Given the description of an element on the screen output the (x, y) to click on. 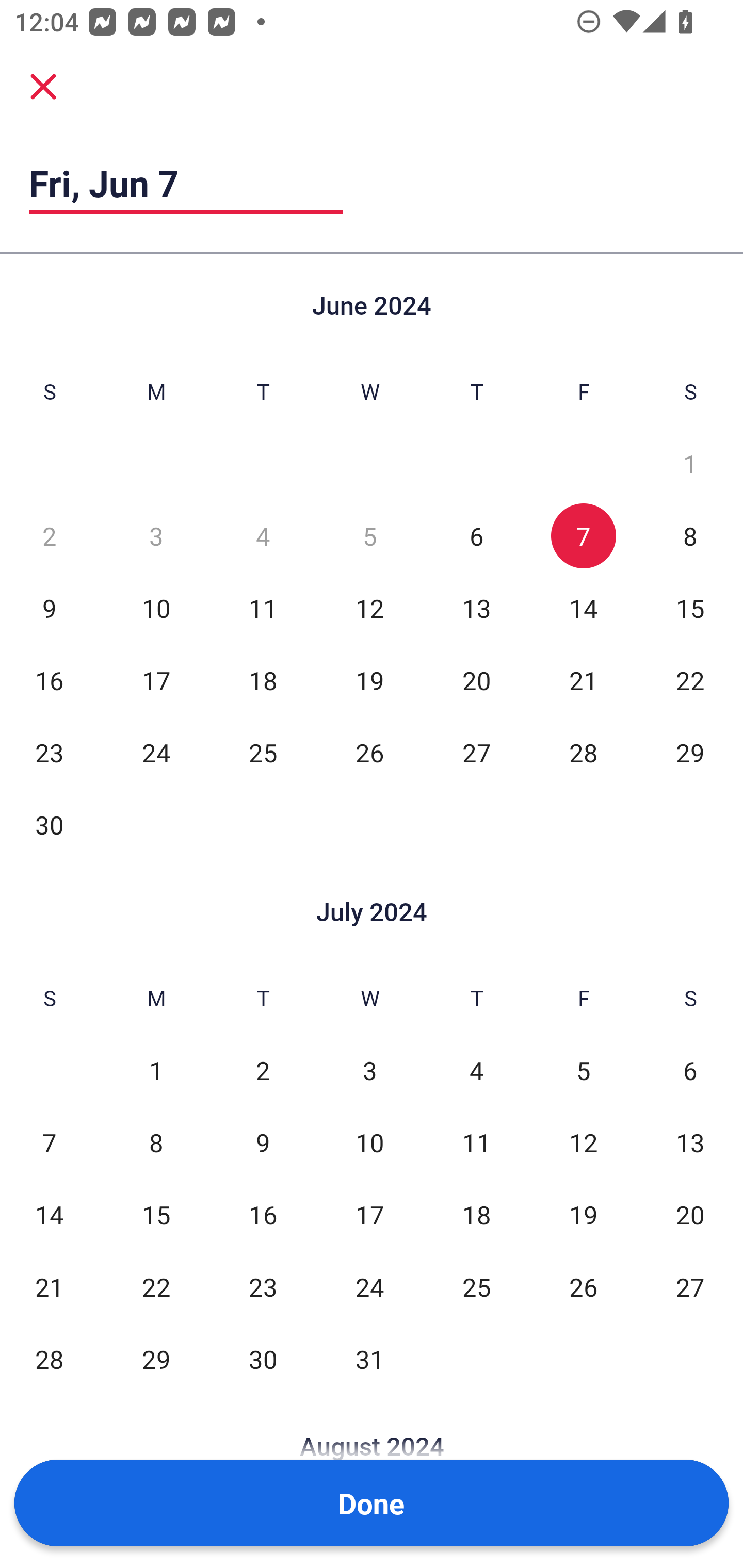
Cancel (43, 86)
Fri, Jun 7 (185, 182)
1 Sat, Jun 1, Not Selected (690, 464)
2 Sun, Jun 2, Not Selected (49, 536)
3 Mon, Jun 3, Not Selected (156, 536)
4 Tue, Jun 4, Not Selected (263, 536)
5 Wed, Jun 5, Not Selected (369, 536)
6 Thu, Jun 6, Not Selected (476, 536)
7 Fri, Jun 7, Selected (583, 536)
8 Sat, Jun 8, Not Selected (690, 536)
9 Sun, Jun 9, Not Selected (49, 608)
10 Mon, Jun 10, Not Selected (156, 608)
11 Tue, Jun 11, Not Selected (263, 608)
12 Wed, Jun 12, Not Selected (369, 608)
13 Thu, Jun 13, Not Selected (476, 608)
14 Fri, Jun 14, Not Selected (583, 608)
15 Sat, Jun 15, Not Selected (690, 608)
16 Sun, Jun 16, Not Selected (49, 680)
17 Mon, Jun 17, Not Selected (156, 680)
18 Tue, Jun 18, Not Selected (263, 680)
19 Wed, Jun 19, Not Selected (369, 680)
20 Thu, Jun 20, Not Selected (476, 680)
21 Fri, Jun 21, Not Selected (583, 680)
22 Sat, Jun 22, Not Selected (690, 680)
23 Sun, Jun 23, Not Selected (49, 752)
24 Mon, Jun 24, Not Selected (156, 752)
25 Tue, Jun 25, Not Selected (263, 752)
26 Wed, Jun 26, Not Selected (369, 752)
27 Thu, Jun 27, Not Selected (476, 752)
28 Fri, Jun 28, Not Selected (583, 752)
29 Sat, Jun 29, Not Selected (690, 752)
30 Sun, Jun 30, Not Selected (49, 824)
1 Mon, Jul 1, Not Selected (156, 1070)
2 Tue, Jul 2, Not Selected (263, 1070)
3 Wed, Jul 3, Not Selected (369, 1070)
4 Thu, Jul 4, Not Selected (476, 1070)
5 Fri, Jul 5, Not Selected (583, 1070)
6 Sat, Jul 6, Not Selected (690, 1070)
7 Sun, Jul 7, Not Selected (49, 1143)
8 Mon, Jul 8, Not Selected (156, 1143)
9 Tue, Jul 9, Not Selected (263, 1143)
10 Wed, Jul 10, Not Selected (369, 1143)
11 Thu, Jul 11, Not Selected (476, 1143)
12 Fri, Jul 12, Not Selected (583, 1143)
13 Sat, Jul 13, Not Selected (690, 1143)
14 Sun, Jul 14, Not Selected (49, 1215)
15 Mon, Jul 15, Not Selected (156, 1215)
16 Tue, Jul 16, Not Selected (263, 1215)
17 Wed, Jul 17, Not Selected (369, 1215)
18 Thu, Jul 18, Not Selected (476, 1215)
